Given the description of an element on the screen output the (x, y) to click on. 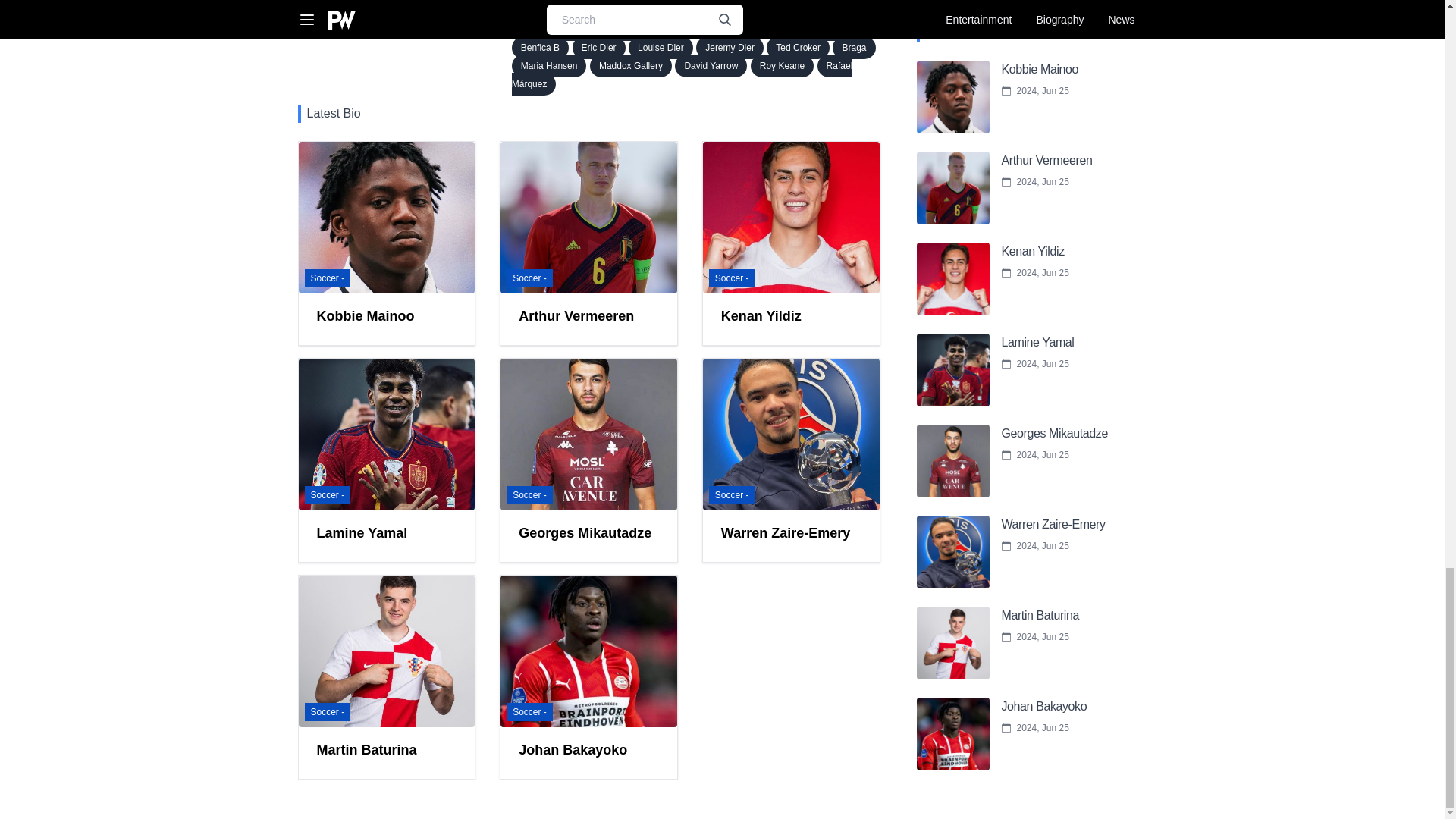
Jeremy Dier (728, 47)
Tottenham Hotspur (559, 29)
Queens Park Rangers (821, 29)
Louise Dier (660, 47)
Maddox Gallery (630, 65)
Premier League (651, 29)
Ted Croker (798, 47)
Roy Keane (782, 65)
Maria Hansen (549, 65)
Sporting CP (728, 29)
